Given the description of an element on the screen output the (x, y) to click on. 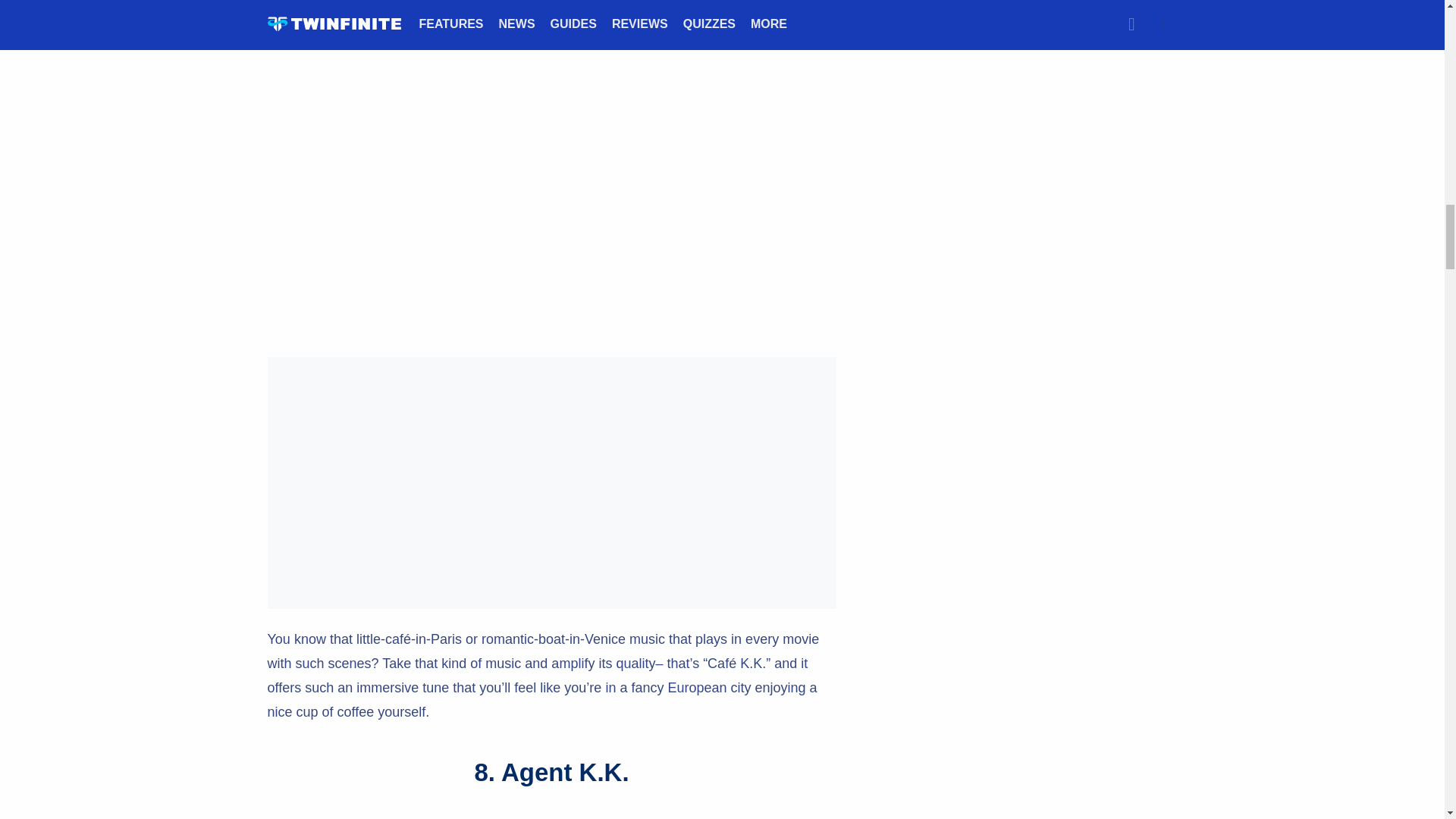
Agent K.K. - K.K. Slider (550, 813)
